Given the description of an element on the screen output the (x, y) to click on. 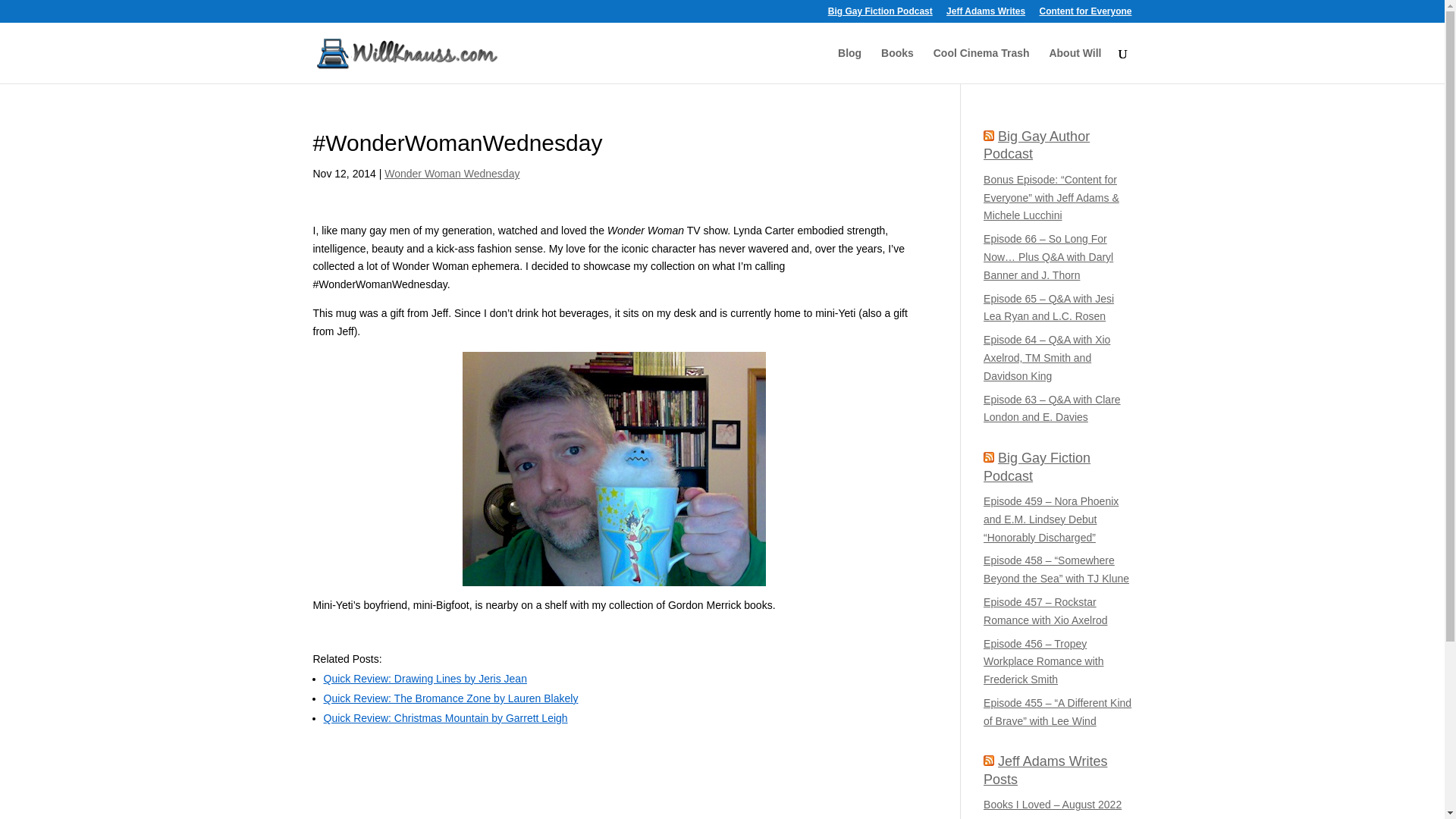
Books (897, 65)
Content for Everyone (1085, 14)
About Will (1074, 65)
Big Gay Fiction Podcast (1037, 466)
Quick Review: Drawing Lines by Jeris Jean (424, 678)
Quick Review: The Bromance Zone by Lauren Blakely (450, 698)
Jeff Adams Writes (985, 14)
Big Gay Author Podcast (1036, 144)
Jeff Adams Writes Posts (1045, 769)
Big Gay Fiction Podcast (880, 14)
Wonder Woman Wednesday (451, 173)
Cool Cinema Trash (981, 65)
Quick Review: Christmas Mountain by Garrett Leigh (445, 717)
